Given the description of an element on the screen output the (x, y) to click on. 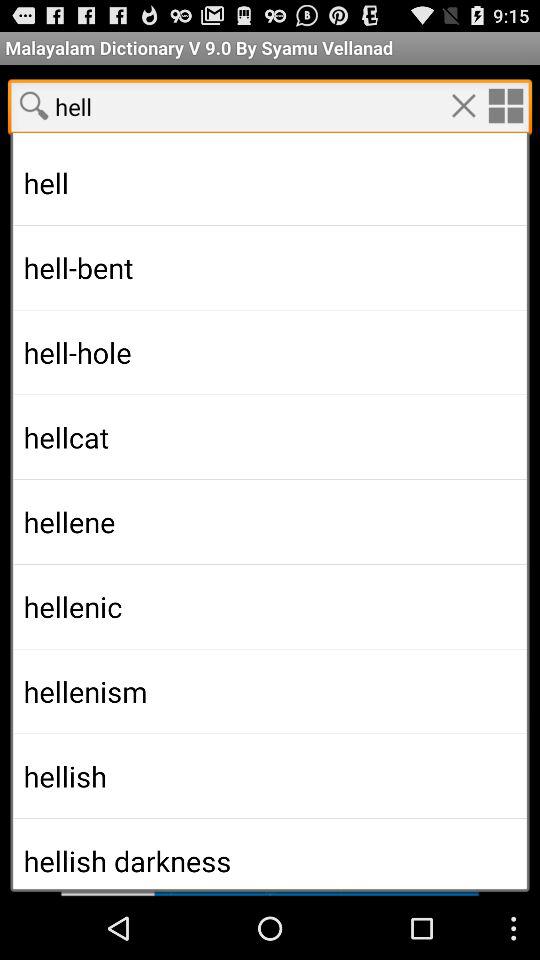
search results (270, 491)
